Given the description of an element on the screen output the (x, y) to click on. 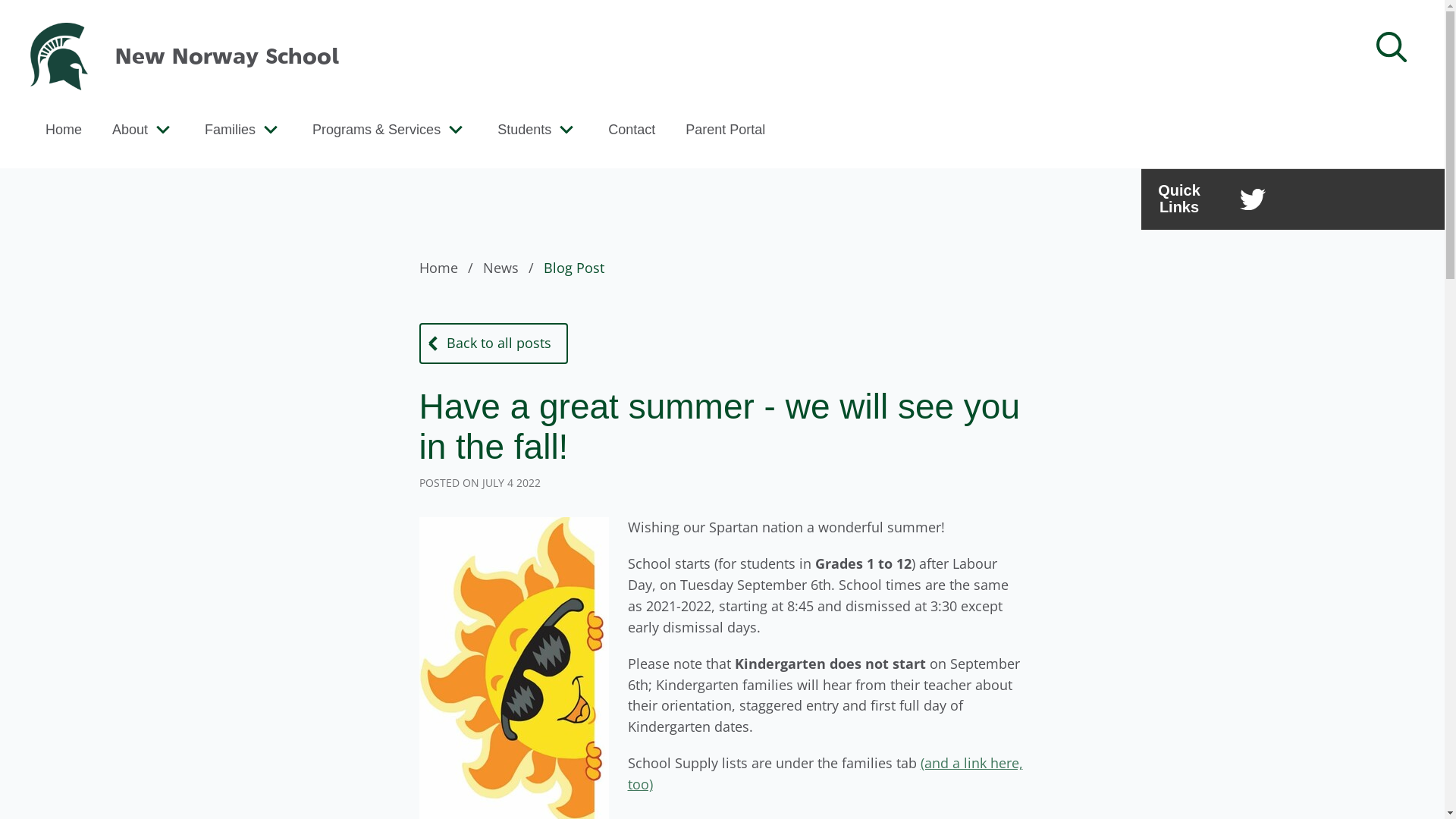
Families Element type: text (229, 129)
News Element type: text (510, 267)
home Element type: hover (59, 56)
Programs & Services Element type: text (376, 129)
Search Element type: text (44, 19)
Parent Portal Element type: text (725, 129)
New Norway School's Twitter Element type: hover (1252, 199)
Home Element type: text (63, 129)
Home Element type: text (448, 267)
(and a link here, too) Element type: text (824, 773)
Quick Links Element type: text (1179, 198)
Back to all posts Element type: text (492, 343)
About Element type: text (129, 129)
Contact Element type: text (631, 129)
Students Element type: text (524, 129)
